Given the description of an element on the screen output the (x, y) to click on. 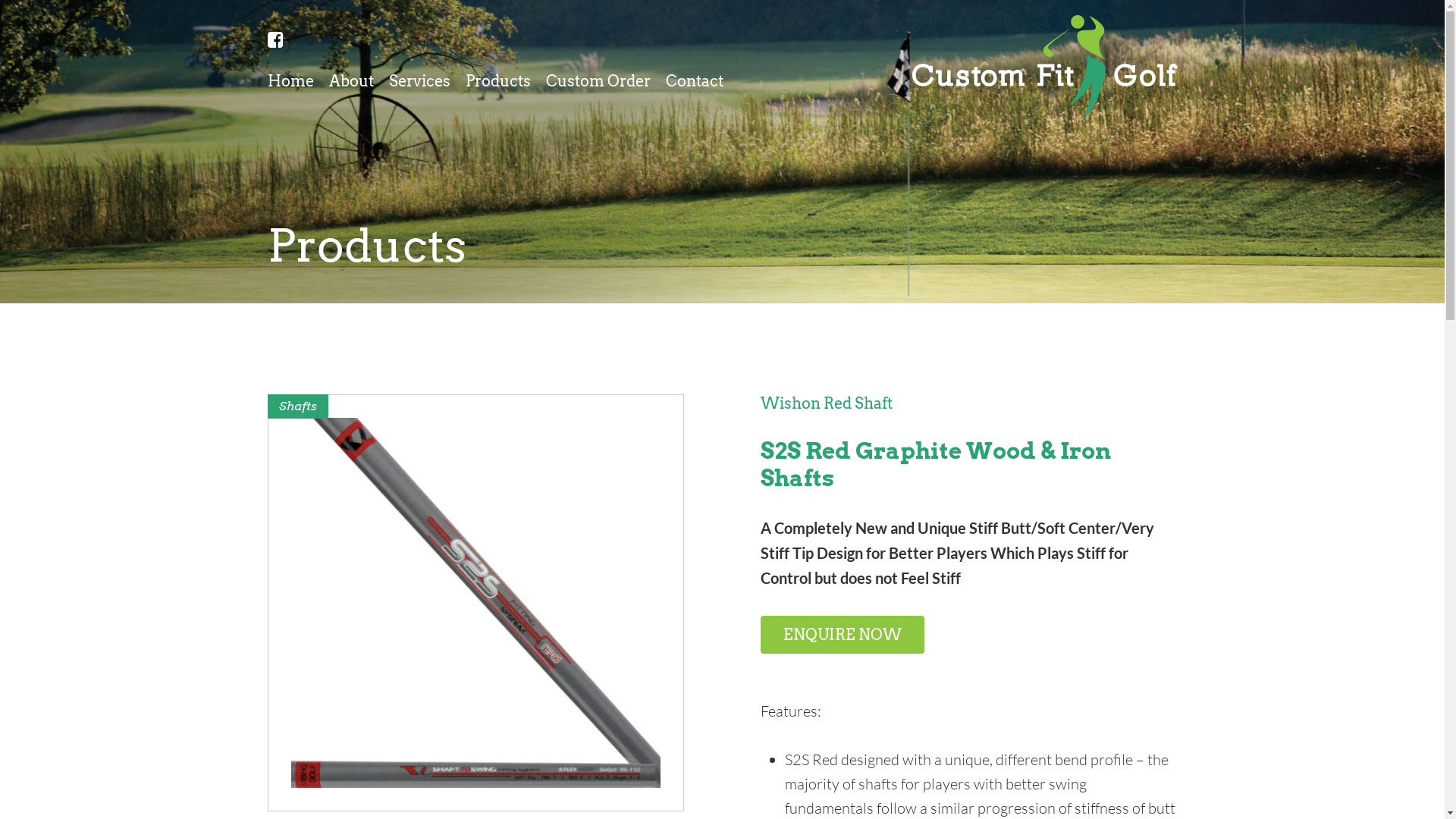
Home Element type: text (289, 84)
Products Element type: text (497, 84)
About Element type: text (351, 84)
Contact Element type: text (694, 84)
ENQUIRE NOW Element type: text (842, 634)
Services Element type: text (418, 84)
Custom Order Element type: text (598, 84)
